Given the description of an element on the screen output the (x, y) to click on. 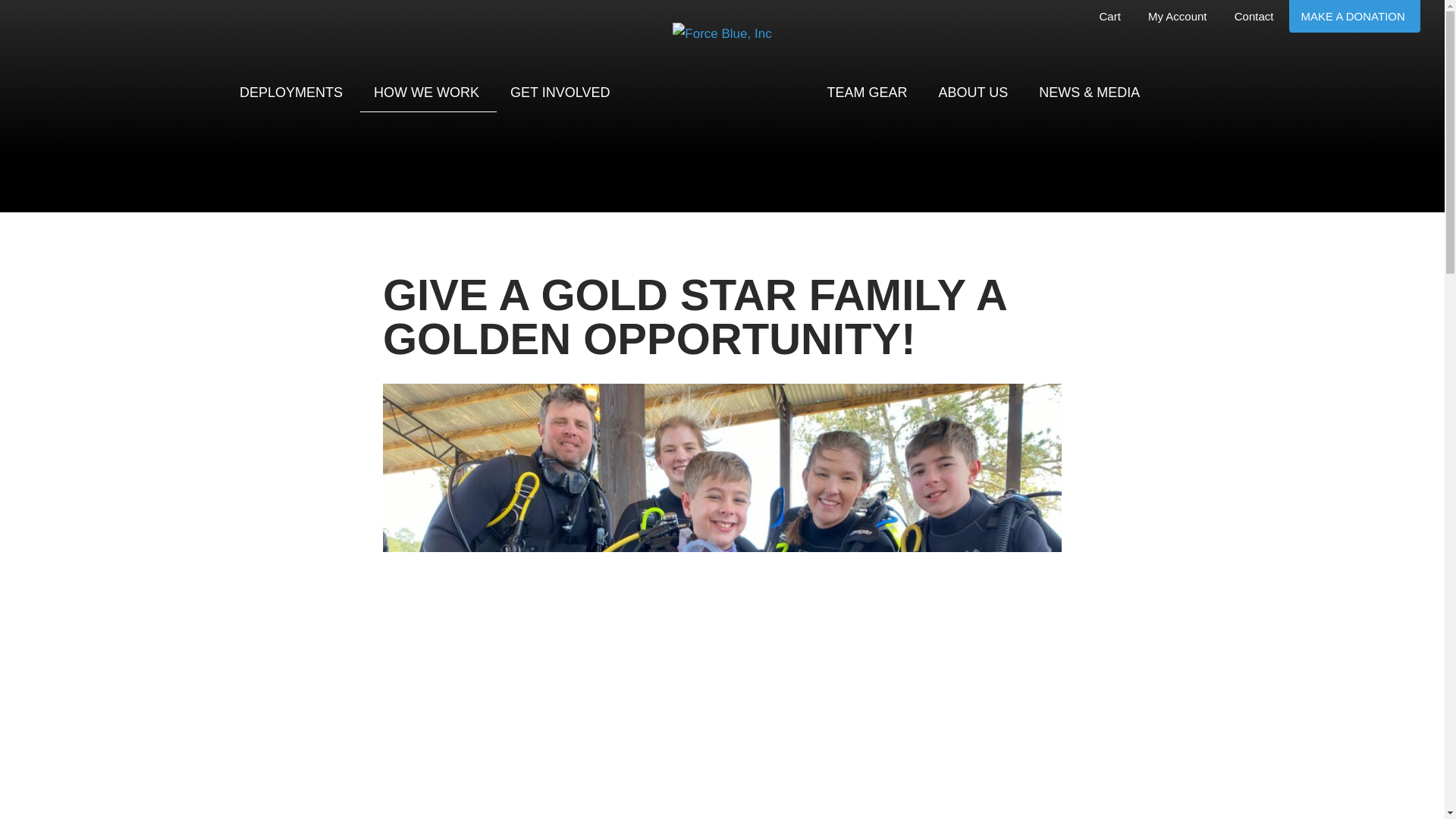
ABOUT US  (975, 92)
GET INVOLVED  (561, 91)
Cart  (1110, 16)
DEPLOYMENTS  (292, 91)
MAKE A DONATION  (1354, 16)
Contact  (1255, 16)
TEAM GEAR  (868, 92)
Force Blue, Inc (721, 90)
My Account  (1179, 16)
HOW WE WORK  (427, 91)
